Given the description of an element on the screen output the (x, y) to click on. 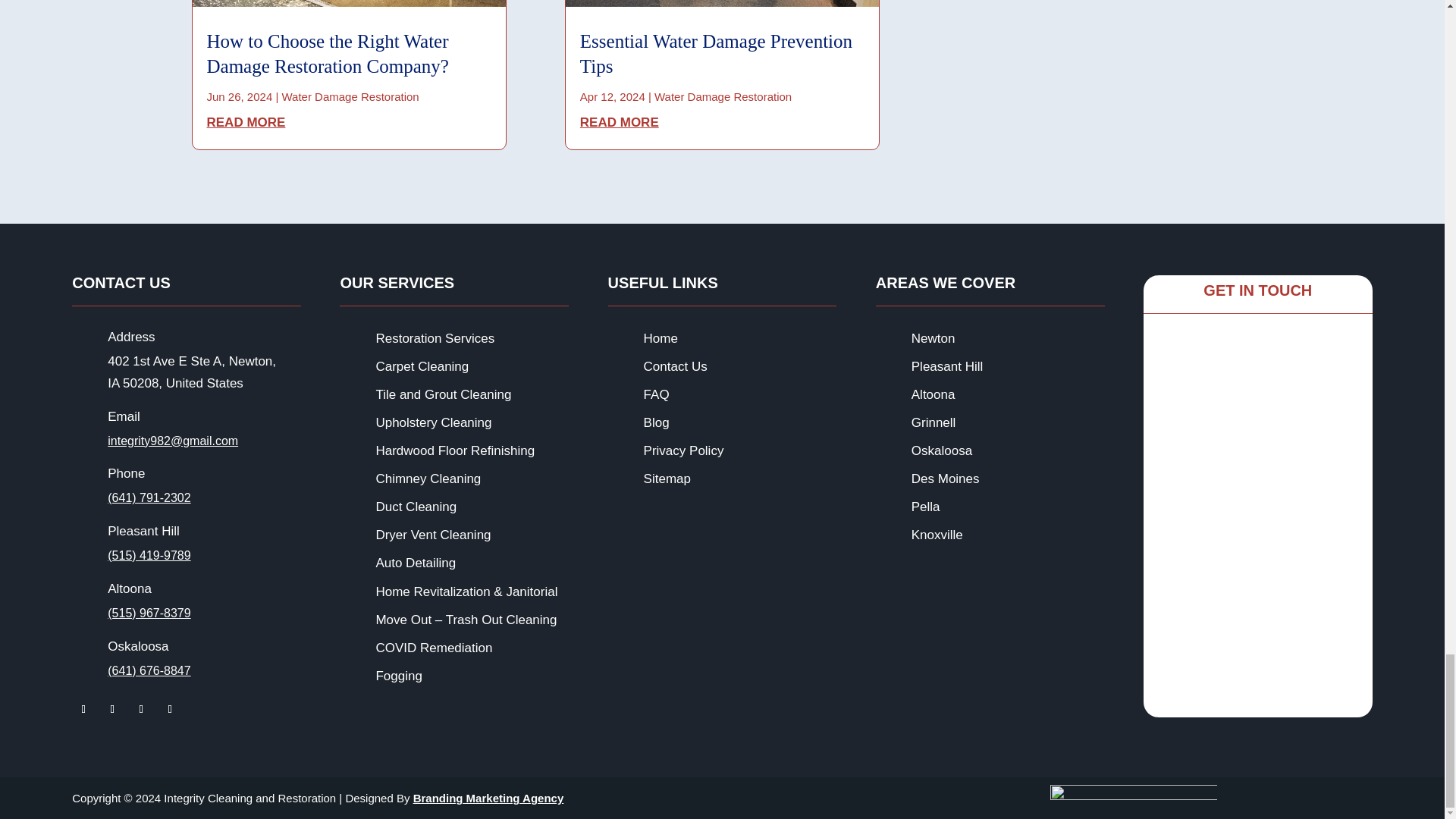
Follow on Google (169, 708)
Follow on Yelp (140, 708)
visa-mastercard-discover-american-express (1133, 797)
Follow on Instagram (111, 708)
Follow on Facebook (82, 708)
